Given the description of an element on the screen output the (x, y) to click on. 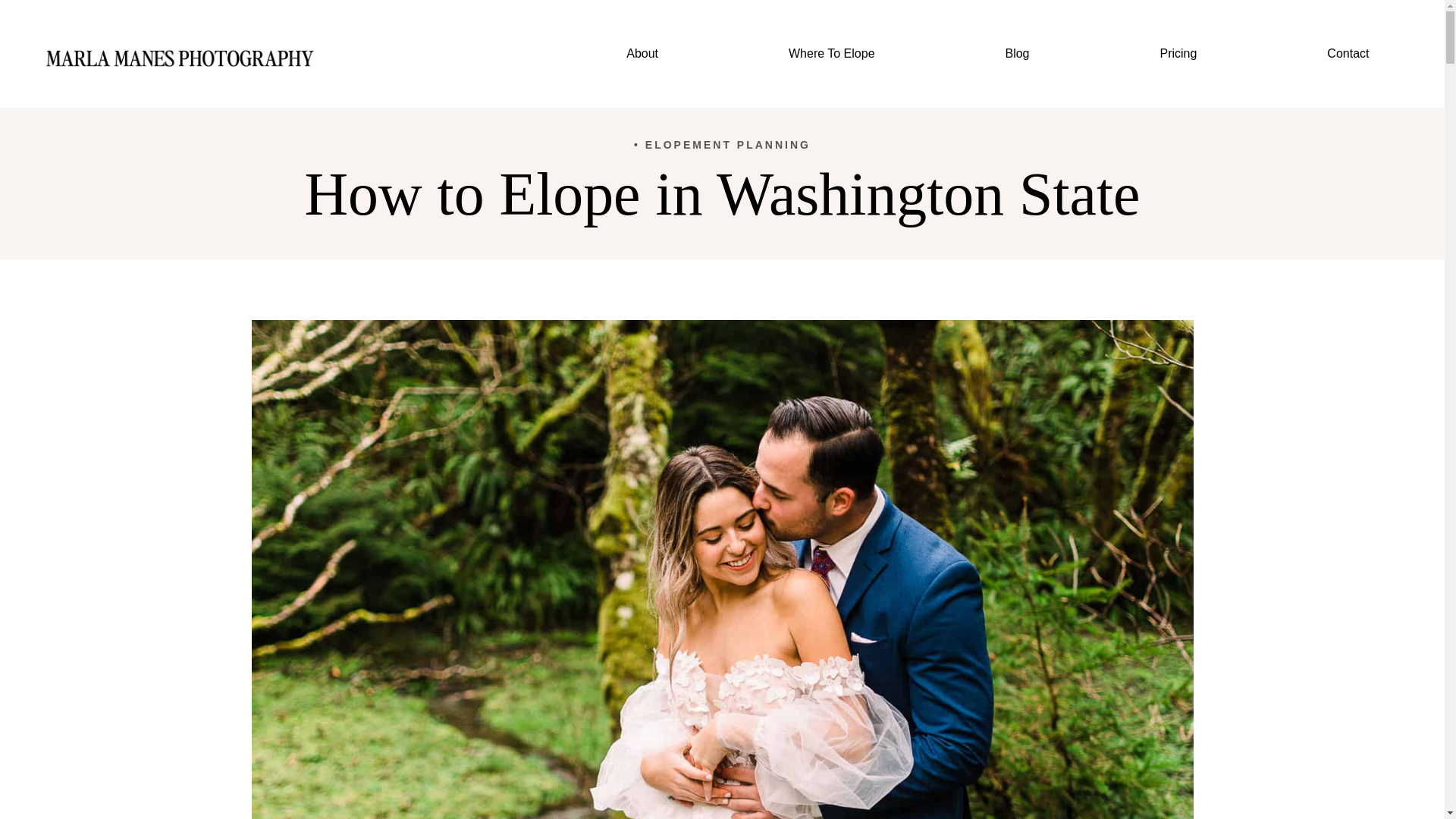
Pricing (1178, 53)
Blog (1017, 53)
Where To Elope (831, 53)
About (642, 53)
Contact (1348, 53)
